Given the description of an element on the screen output the (x, y) to click on. 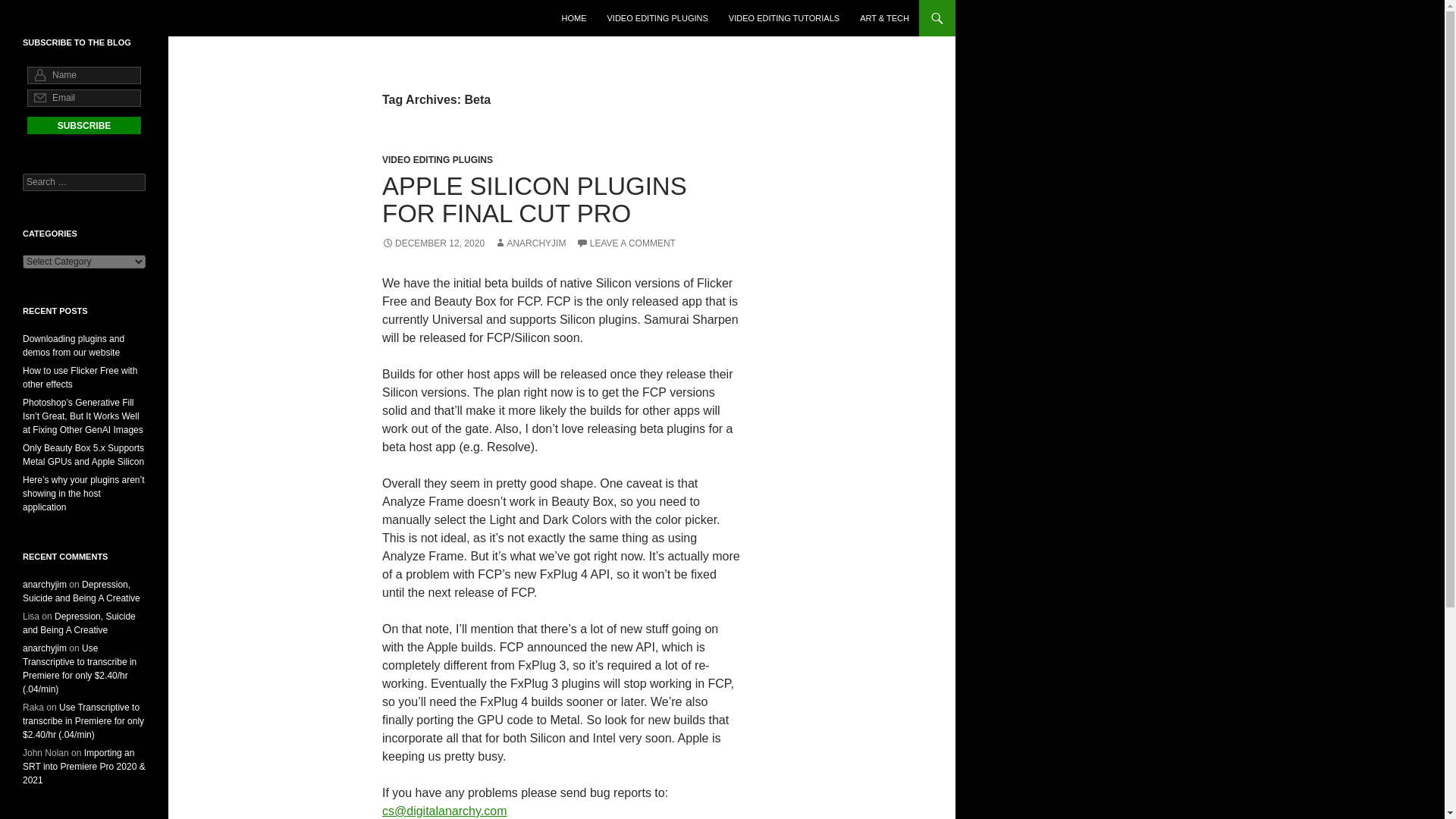
DECEMBER 12, 2020 (432, 243)
Search (30, 8)
Subscribe (84, 125)
HOME (573, 18)
anarchyjim (44, 584)
Subscribe (84, 125)
LEAVE A COMMENT (625, 243)
Downloading plugins and demos from our website (73, 345)
Anarchyjim (60, 18)
Depression, Suicide and Being A Creative (79, 622)
